Given the description of an element on the screen output the (x, y) to click on. 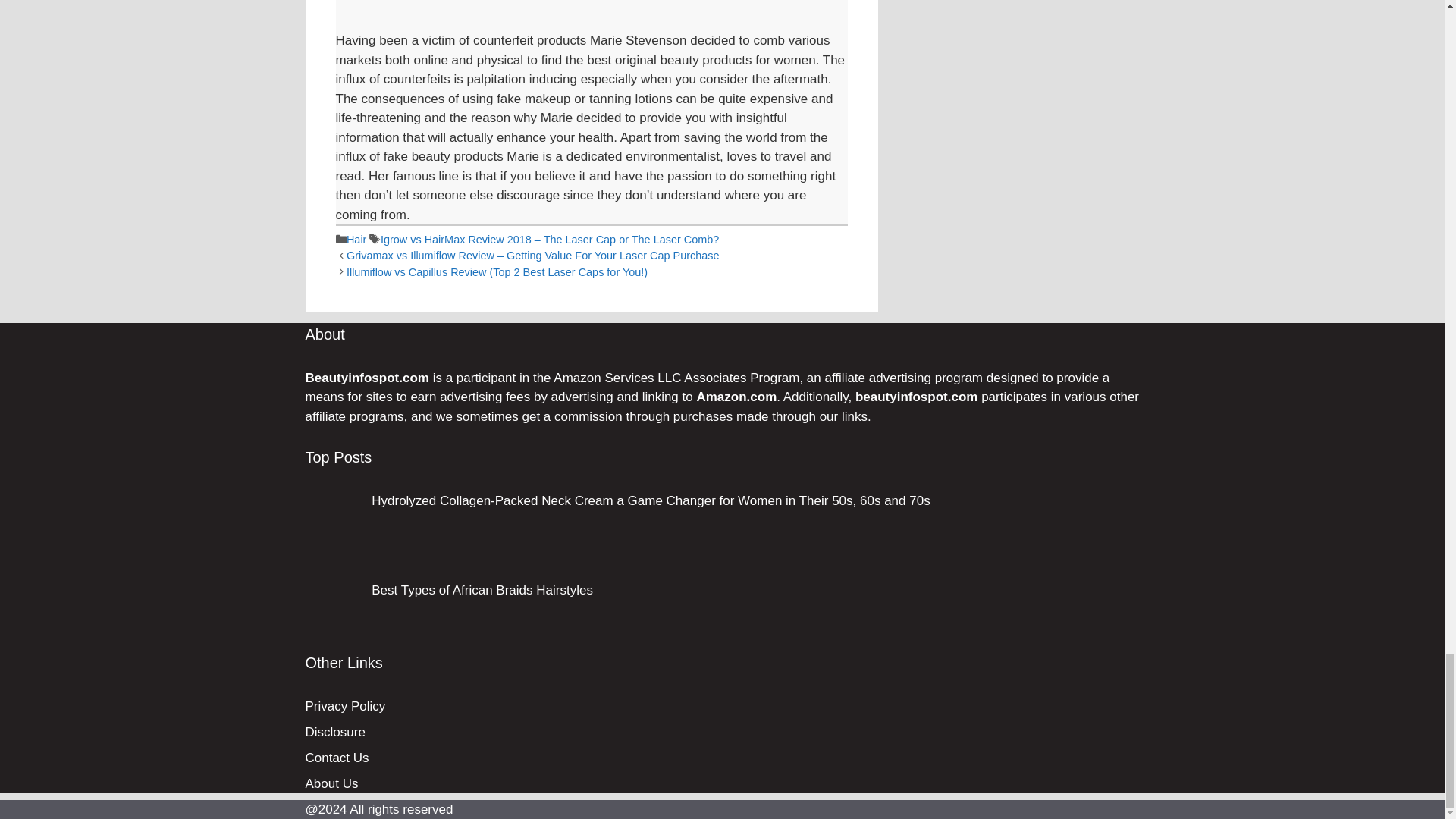
Previous (532, 255)
Hair (356, 239)
Next (496, 272)
Best Types of African Braids Hairstyles 6 (332, 612)
